Given the description of an element on the screen output the (x, y) to click on. 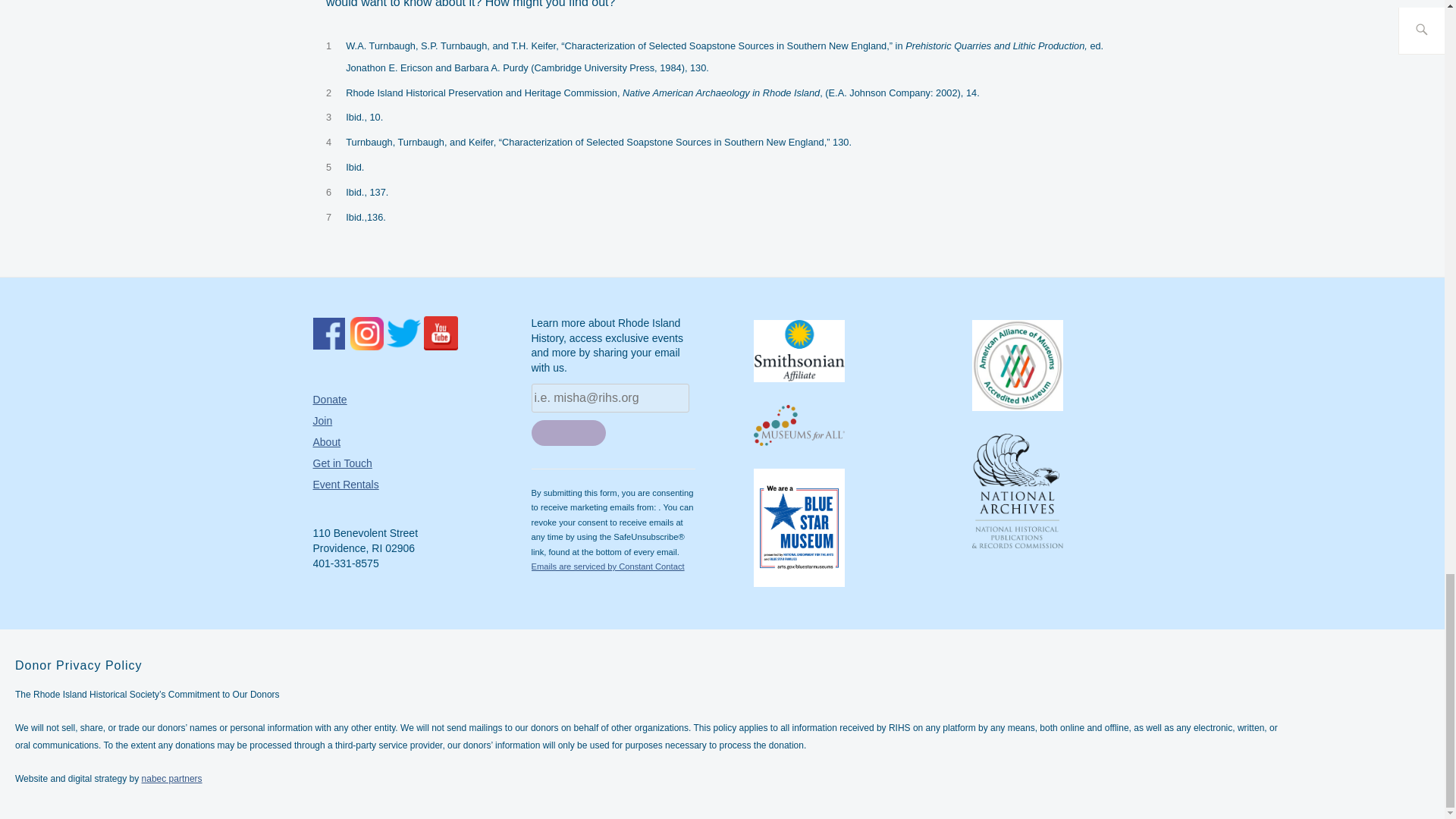
Sign up (568, 432)
